Given the description of an element on the screen output the (x, y) to click on. 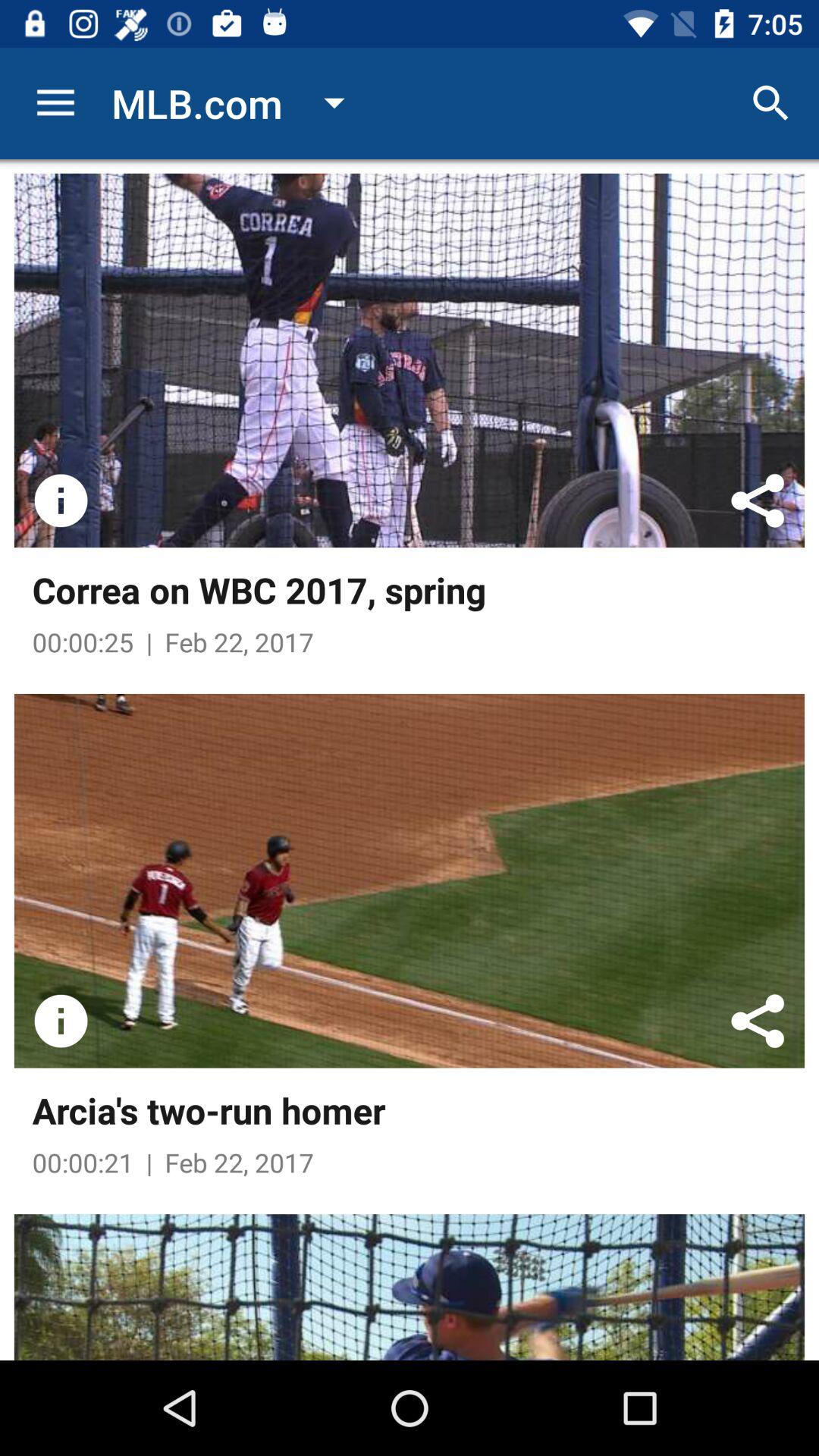
get more info (61, 1021)
